Given the description of an element on the screen output the (x, y) to click on. 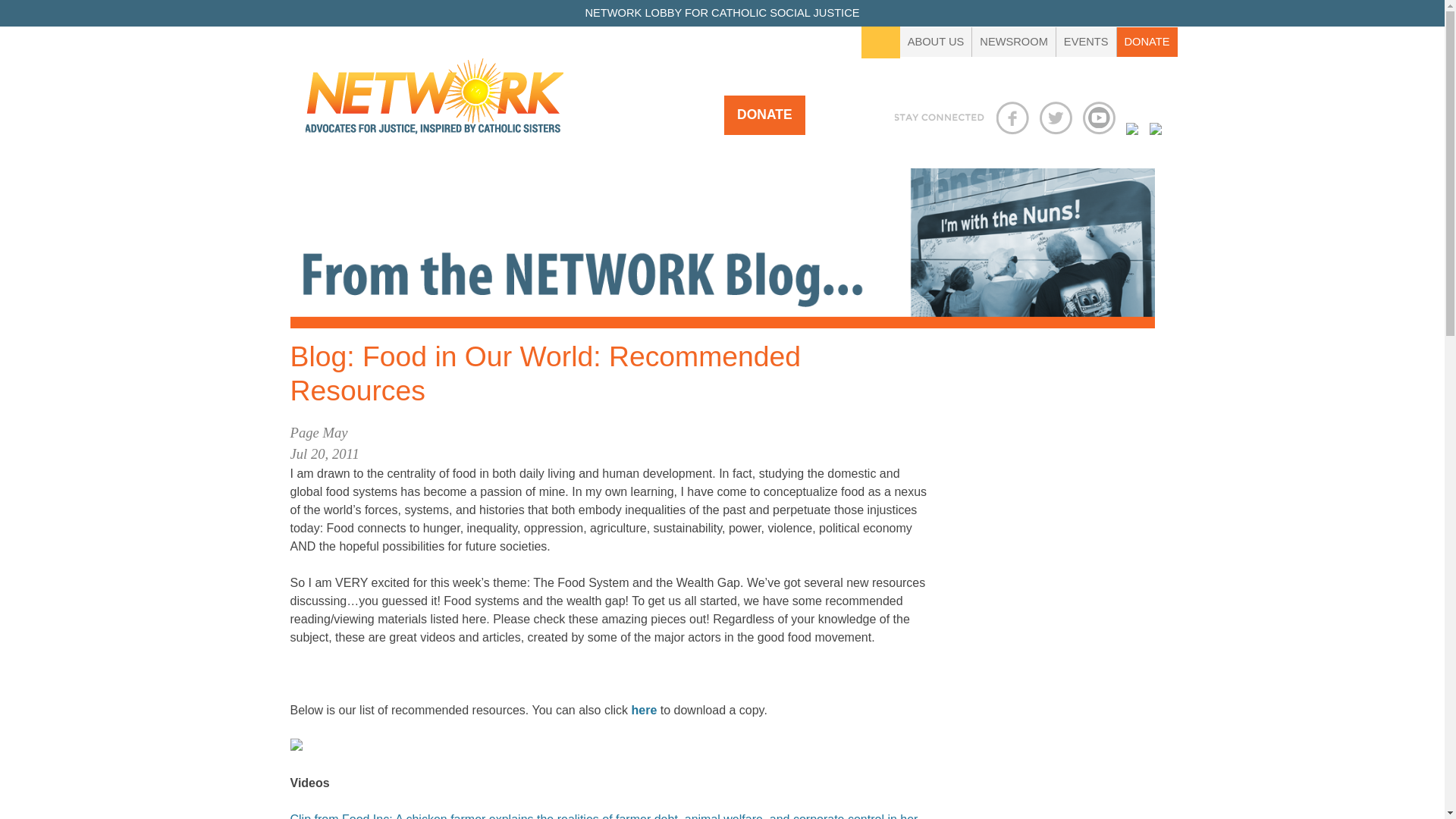
DONATE (1146, 41)
NEWSROOM (1014, 41)
search (21, 11)
DONATE (764, 115)
EVENTS (1086, 41)
BECOME A MEMBER (468, 183)
NETWORK Lobby (433, 101)
ABOUT US (935, 41)
